Given the description of an element on the screen output the (x, y) to click on. 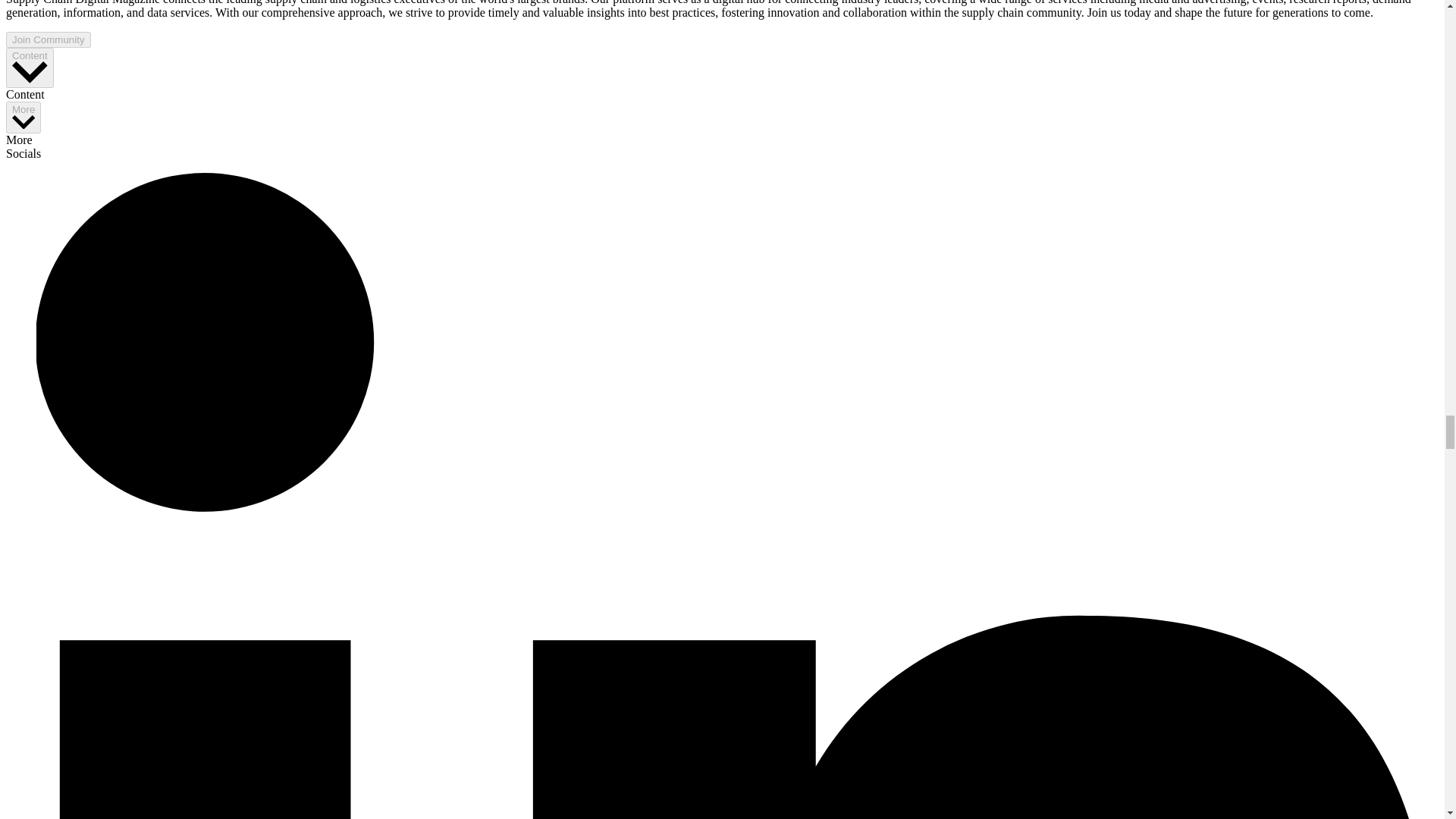
Join Community (47, 39)
More (22, 117)
Content (29, 67)
